Given the description of an element on the screen output the (x, y) to click on. 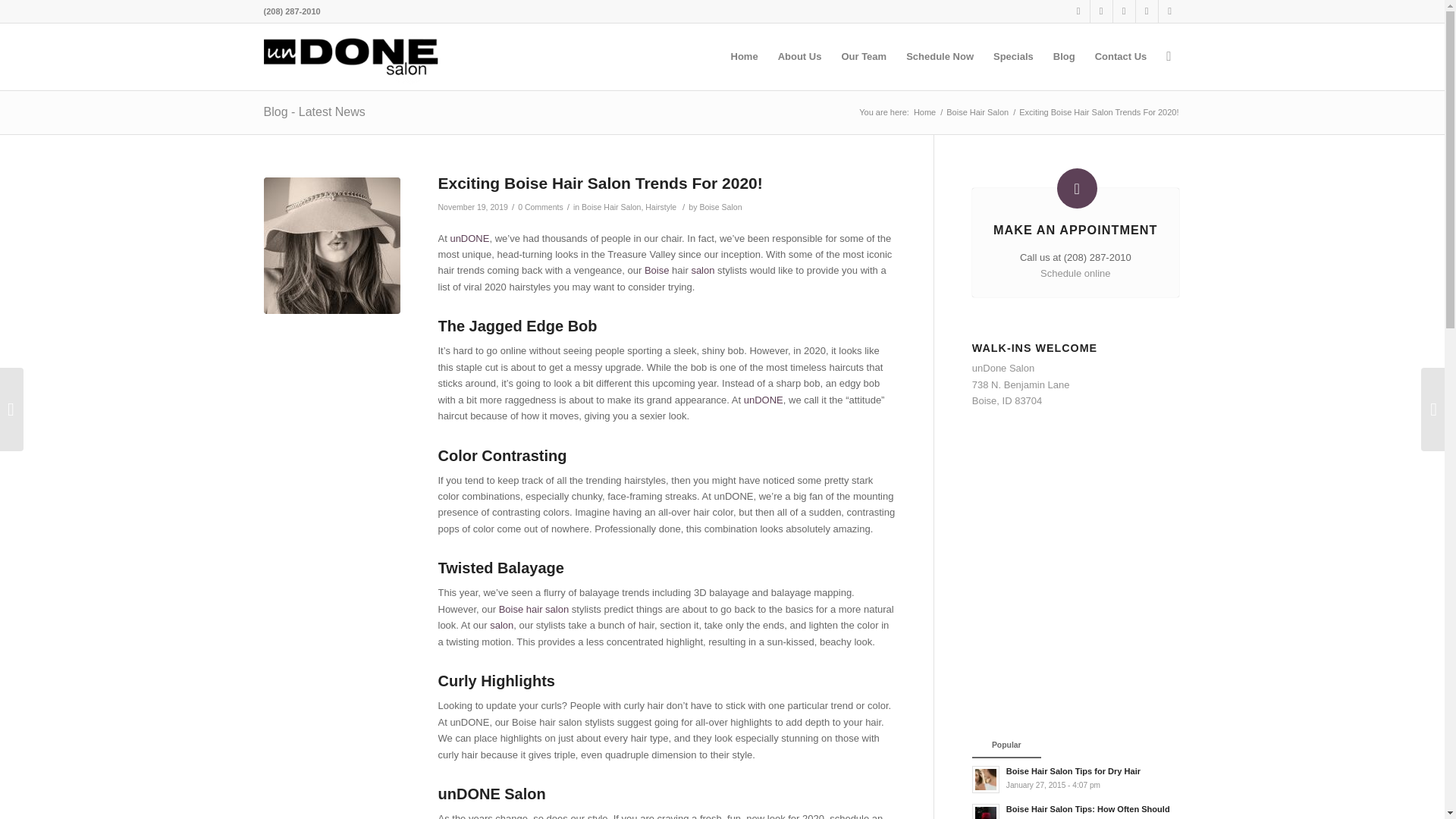
salon (702, 270)
Facebook (1078, 11)
Boise hair salon (534, 609)
Our Team (863, 56)
Hairstyle (661, 206)
Boise Salon (719, 206)
Schedule Now (940, 56)
unDONE (469, 238)
Twitter (1101, 11)
Specials (1013, 56)
